Given the description of an element on the screen output the (x, y) to click on. 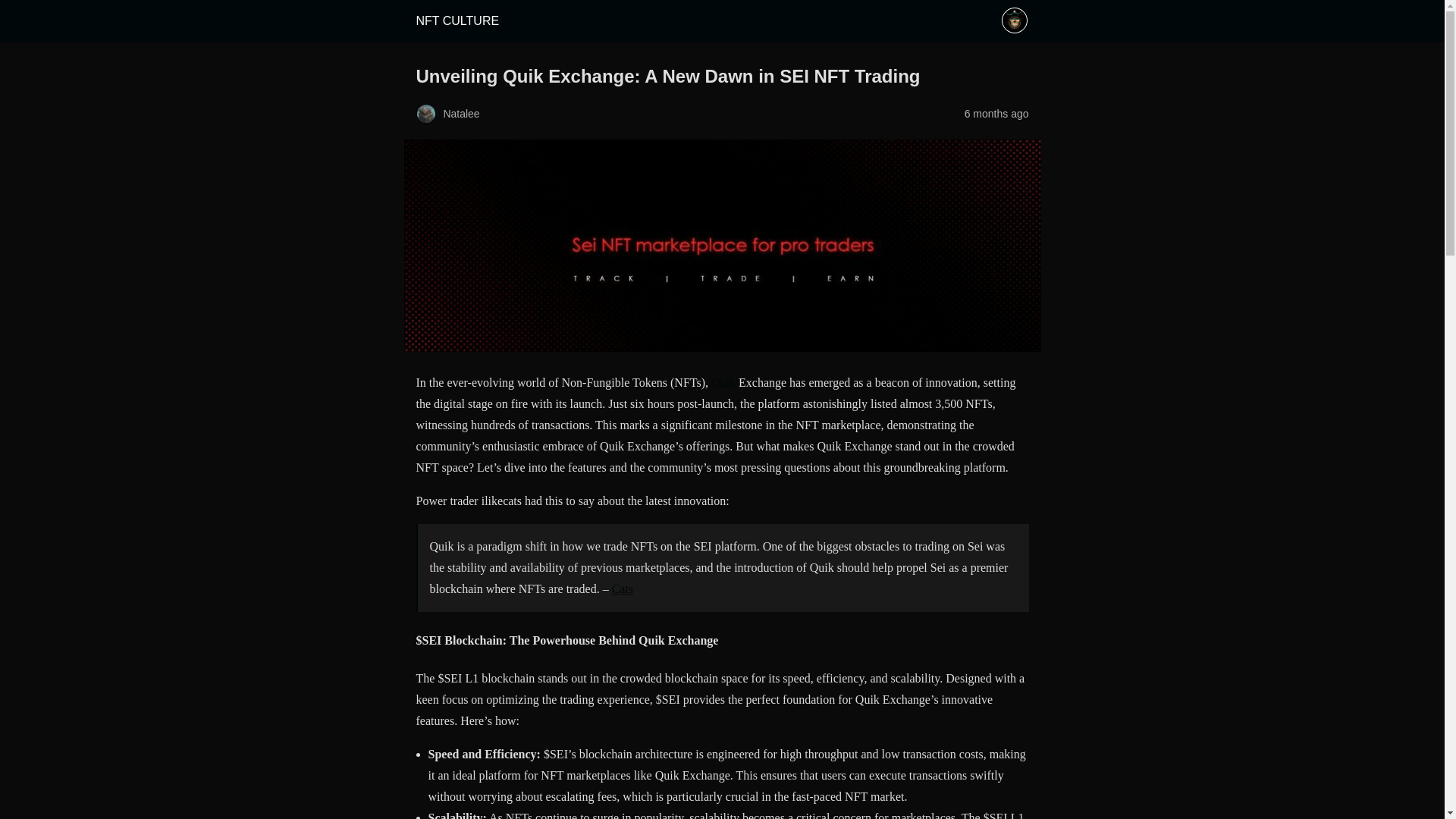
Cats (622, 588)
NFT CULTURE (456, 20)
Quik (723, 382)
